Given the description of an element on the screen output the (x, y) to click on. 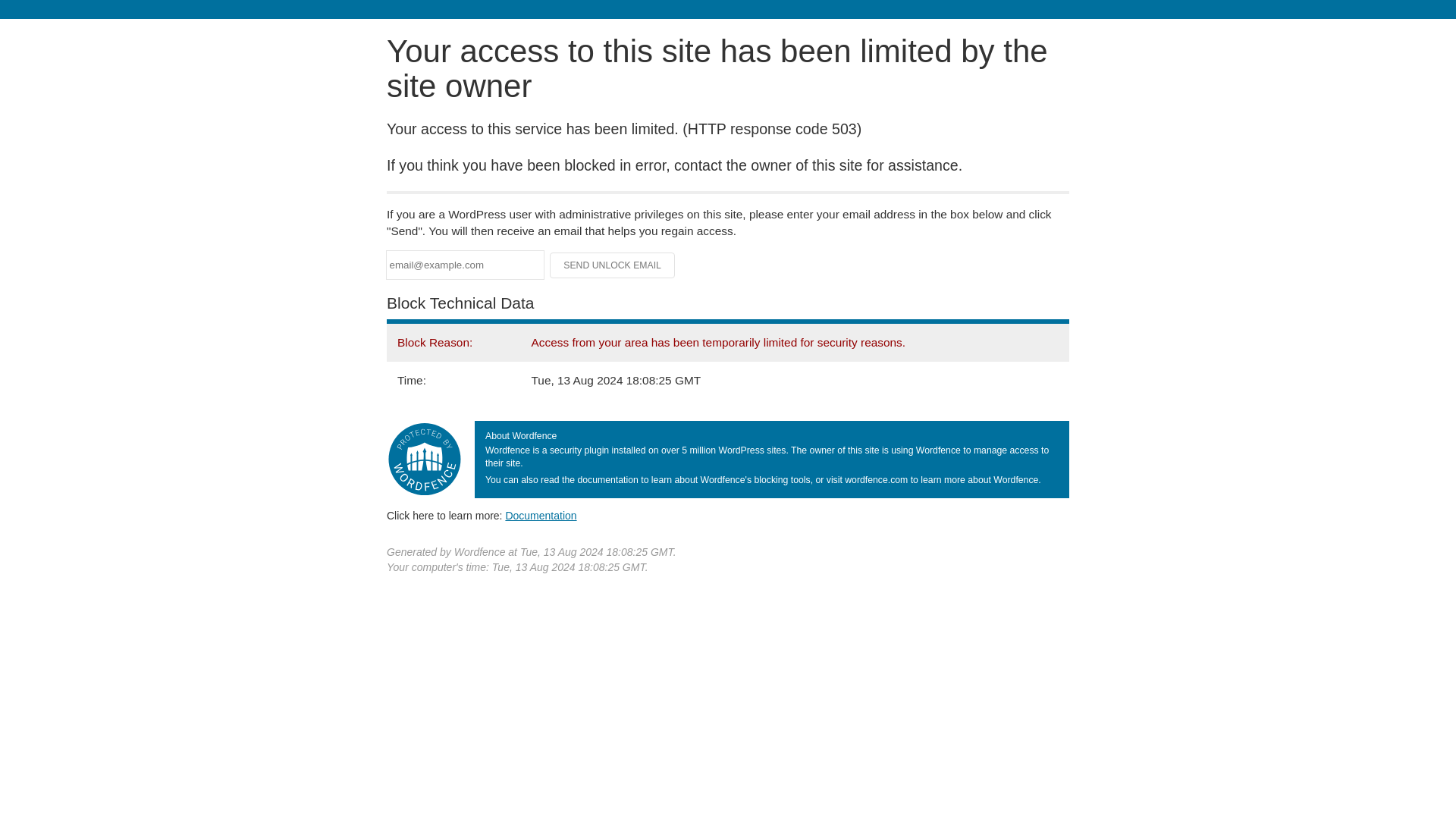
Documentation (540, 515)
Send Unlock Email (612, 265)
Send Unlock Email (612, 265)
